Given the description of an element on the screen output the (x, y) to click on. 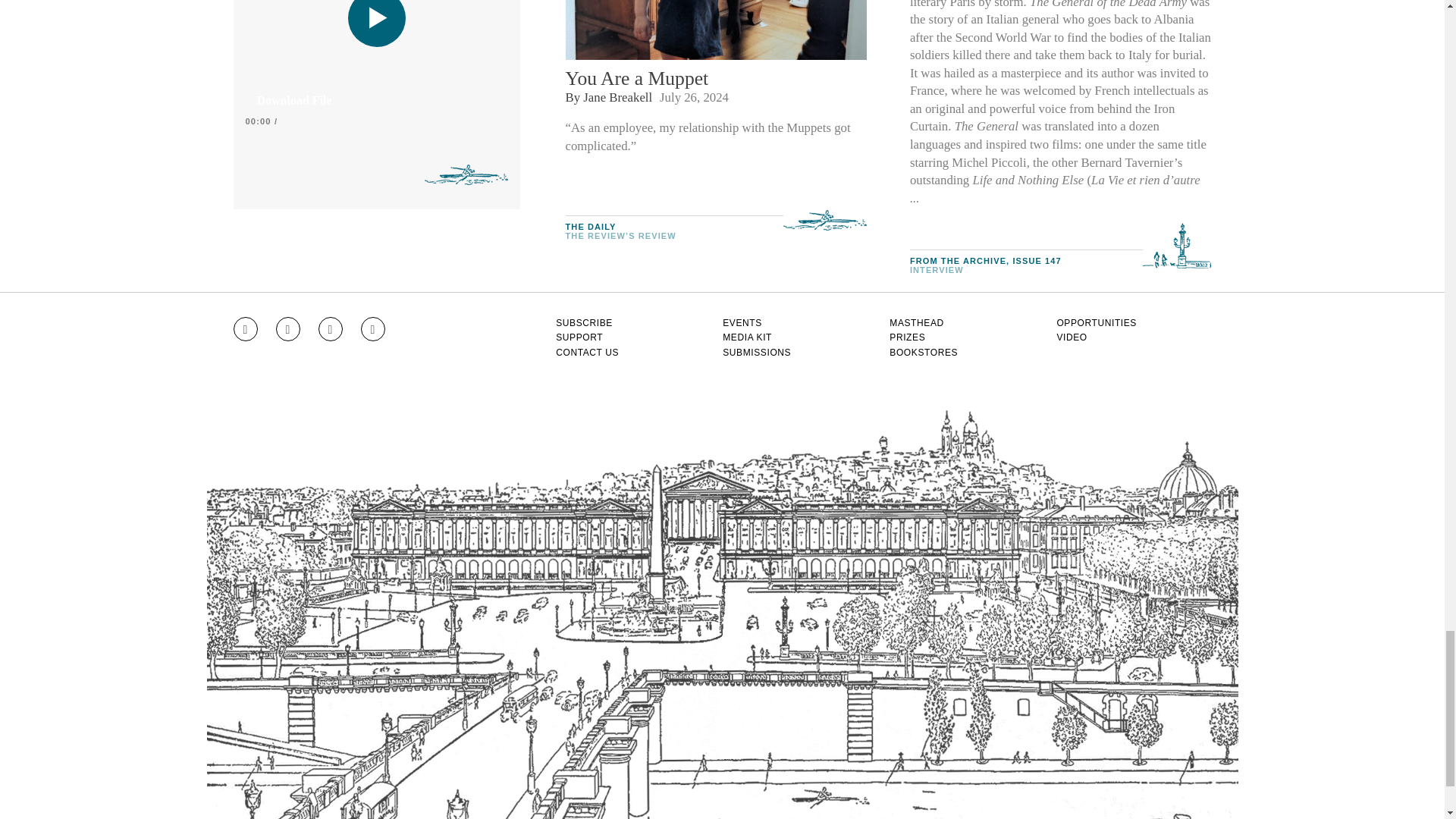
Go to RSS feed (373, 328)
Go to Instagram feed (244, 328)
Go to Facebook page (287, 328)
Go to Twitter feed (330, 328)
